Given the description of an element on the screen output the (x, y) to click on. 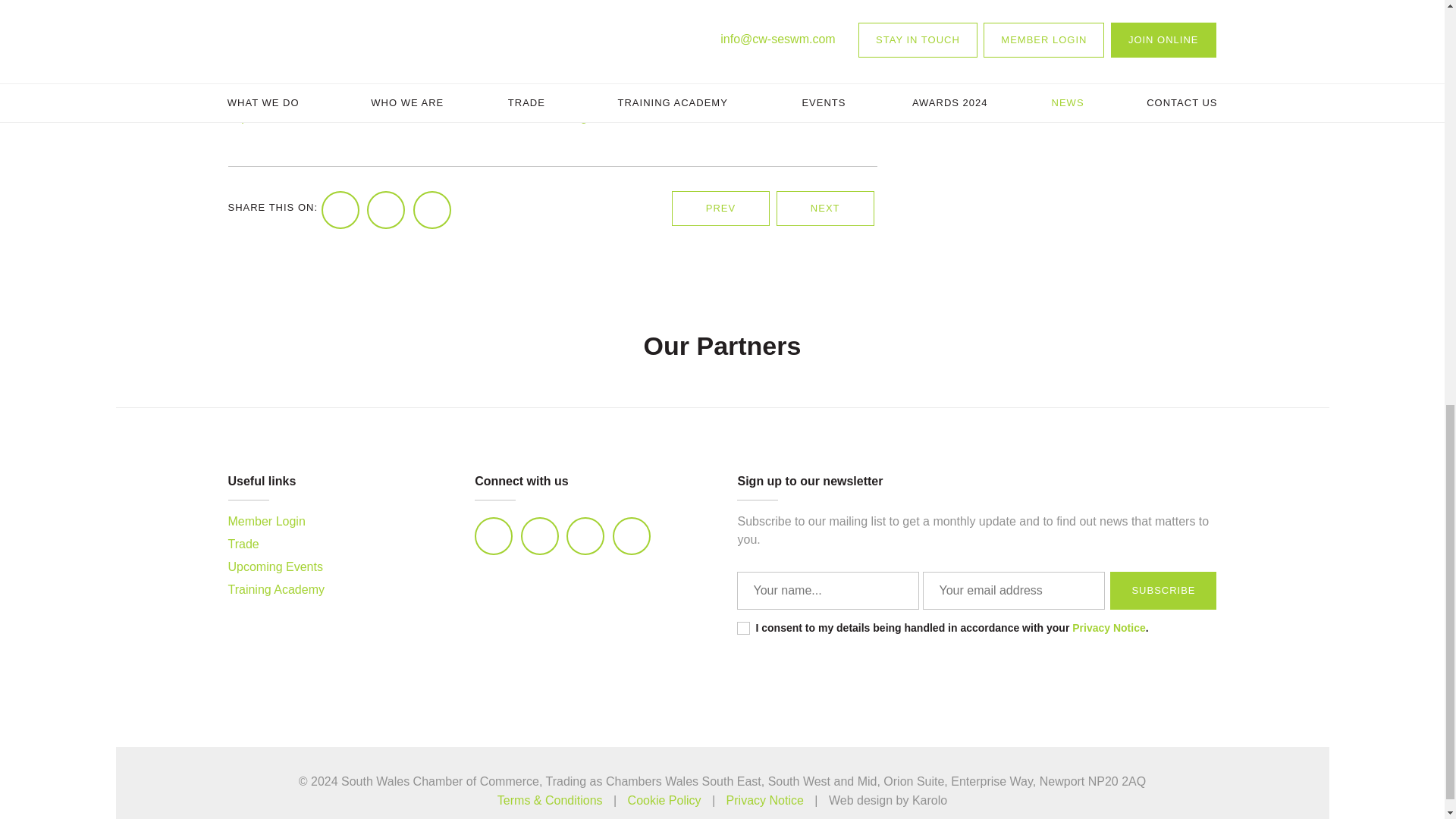
Find us on YouTube (631, 535)
Share on LinkedIn (432, 209)
Find us on LinkedIn (493, 535)
Find us on Facebook (585, 535)
Share on Facebook (340, 209)
Share on Twitter (385, 209)
Find us on Twitter (540, 535)
